Given the description of an element on the screen output the (x, y) to click on. 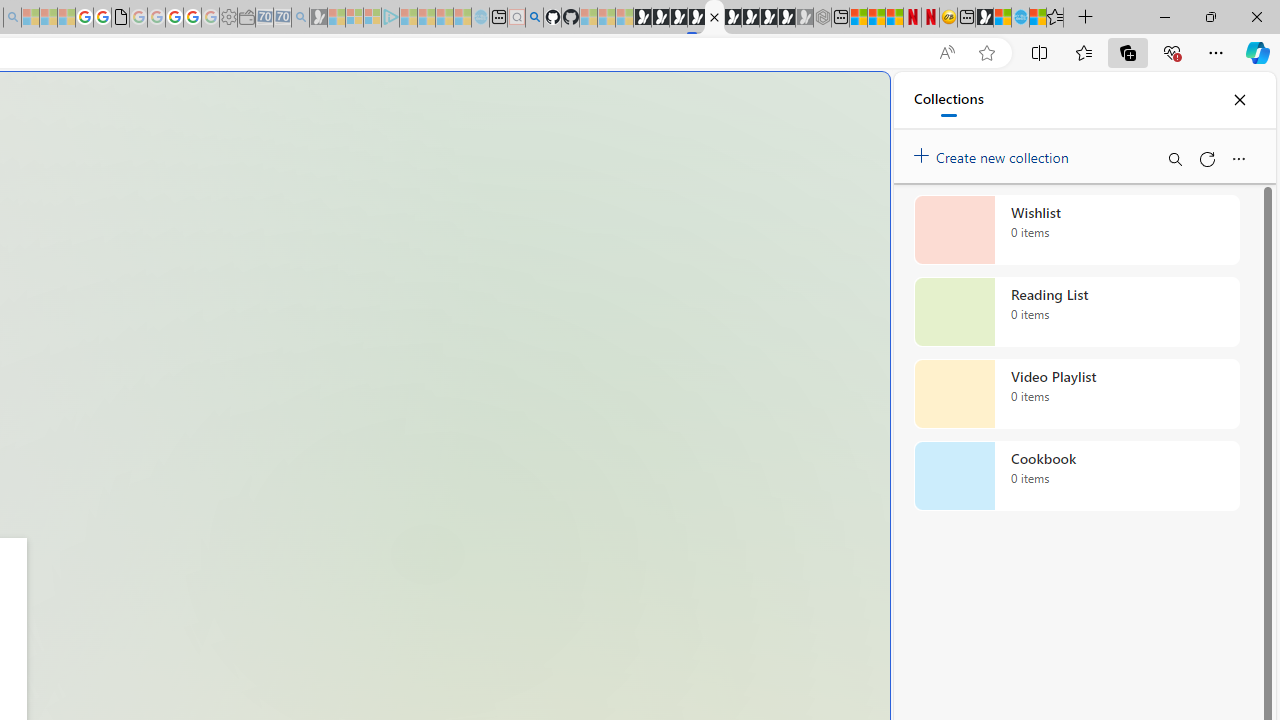
Play Cave FRVR in your browser | Games from Microsoft Start (343, 426)
Reading List collection, 0 items (1076, 312)
Video Playlist collection, 0 items (1076, 394)
google_privacy_policy_zh-CN.pdf (120, 17)
